Given the description of an element on the screen output the (x, y) to click on. 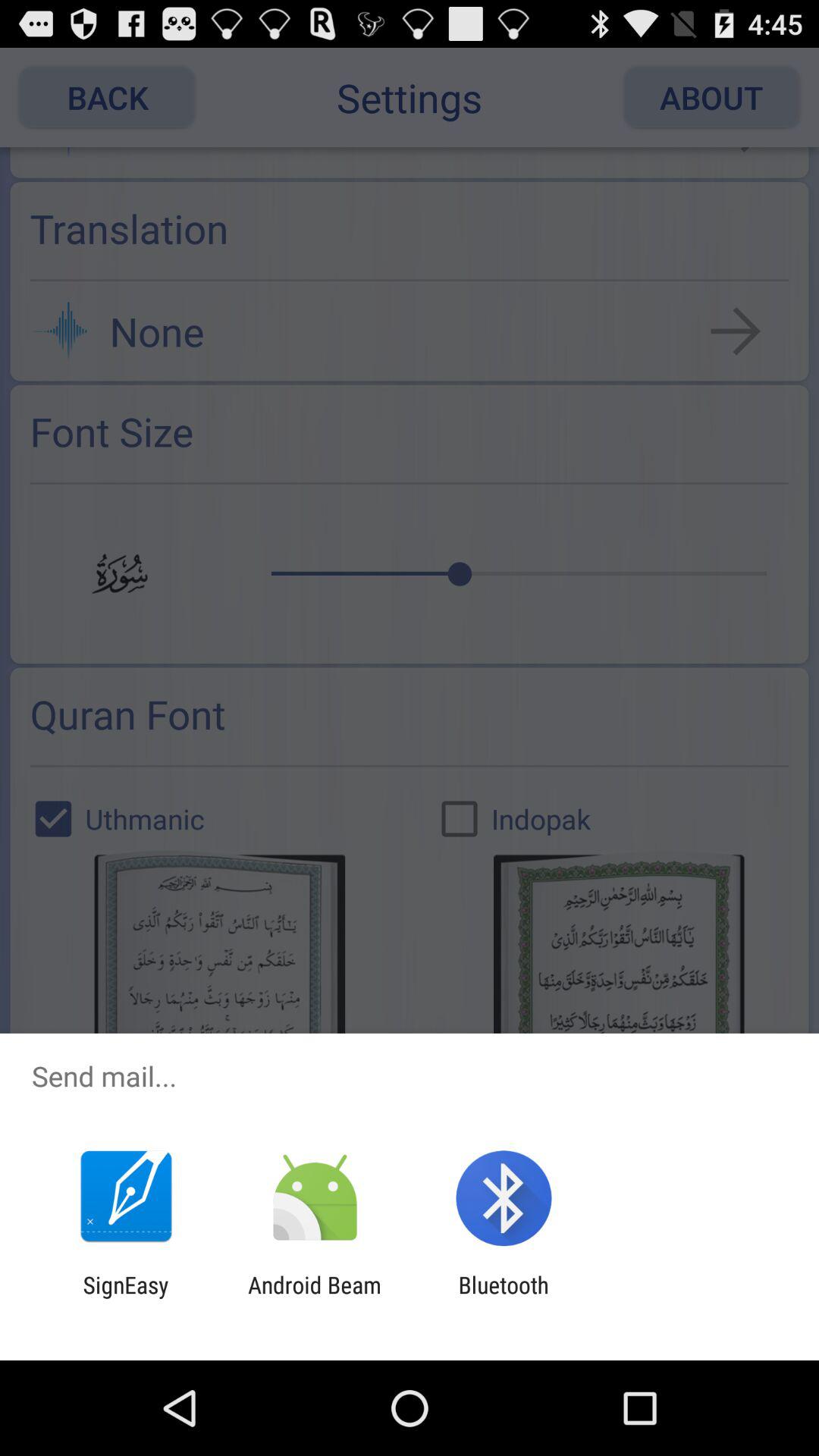
click the signeasy icon (125, 1298)
